Given the description of an element on the screen output the (x, y) to click on. 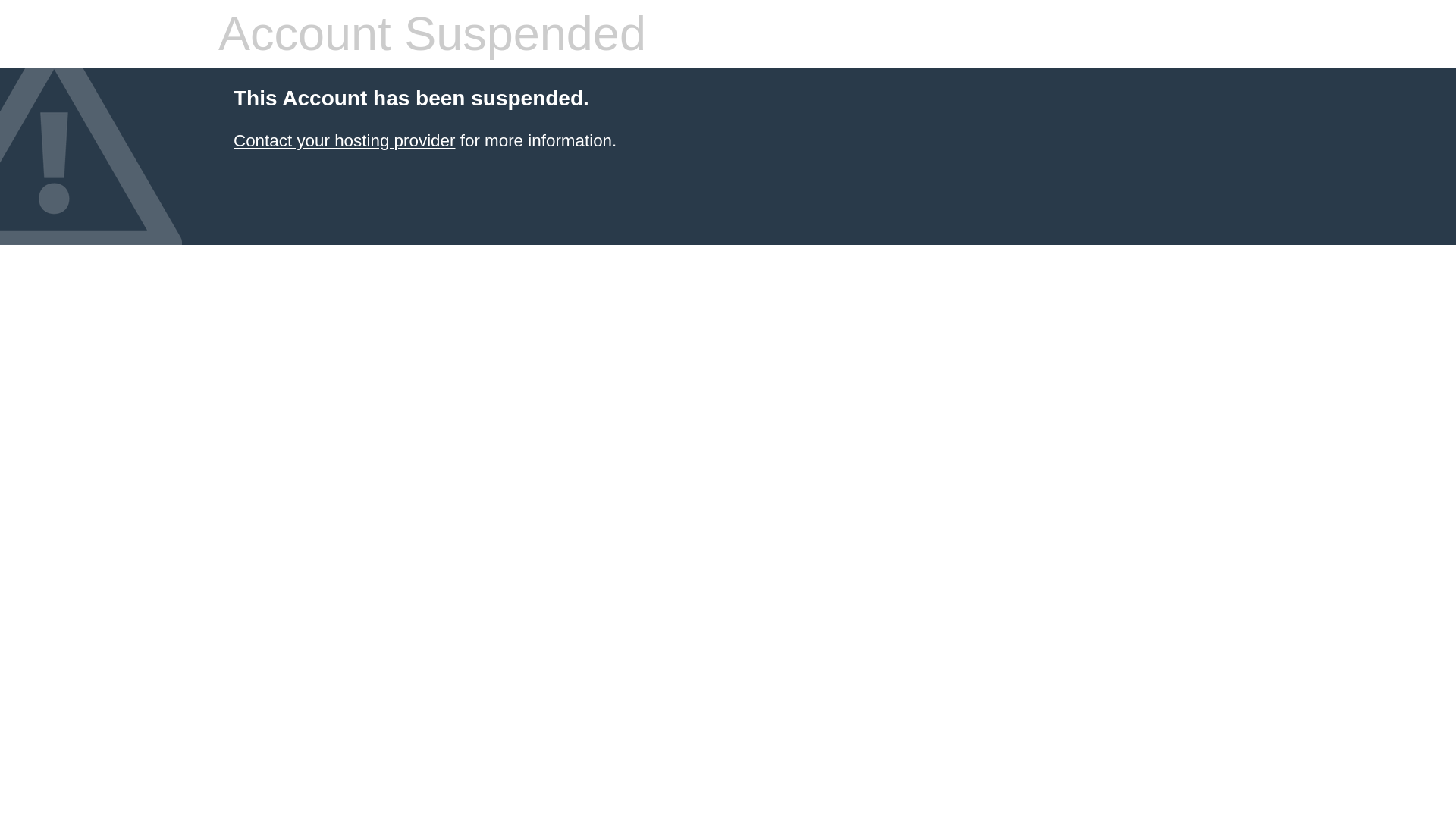
Contact your hosting provider (343, 140)
